Given the description of an element on the screen output the (x, y) to click on. 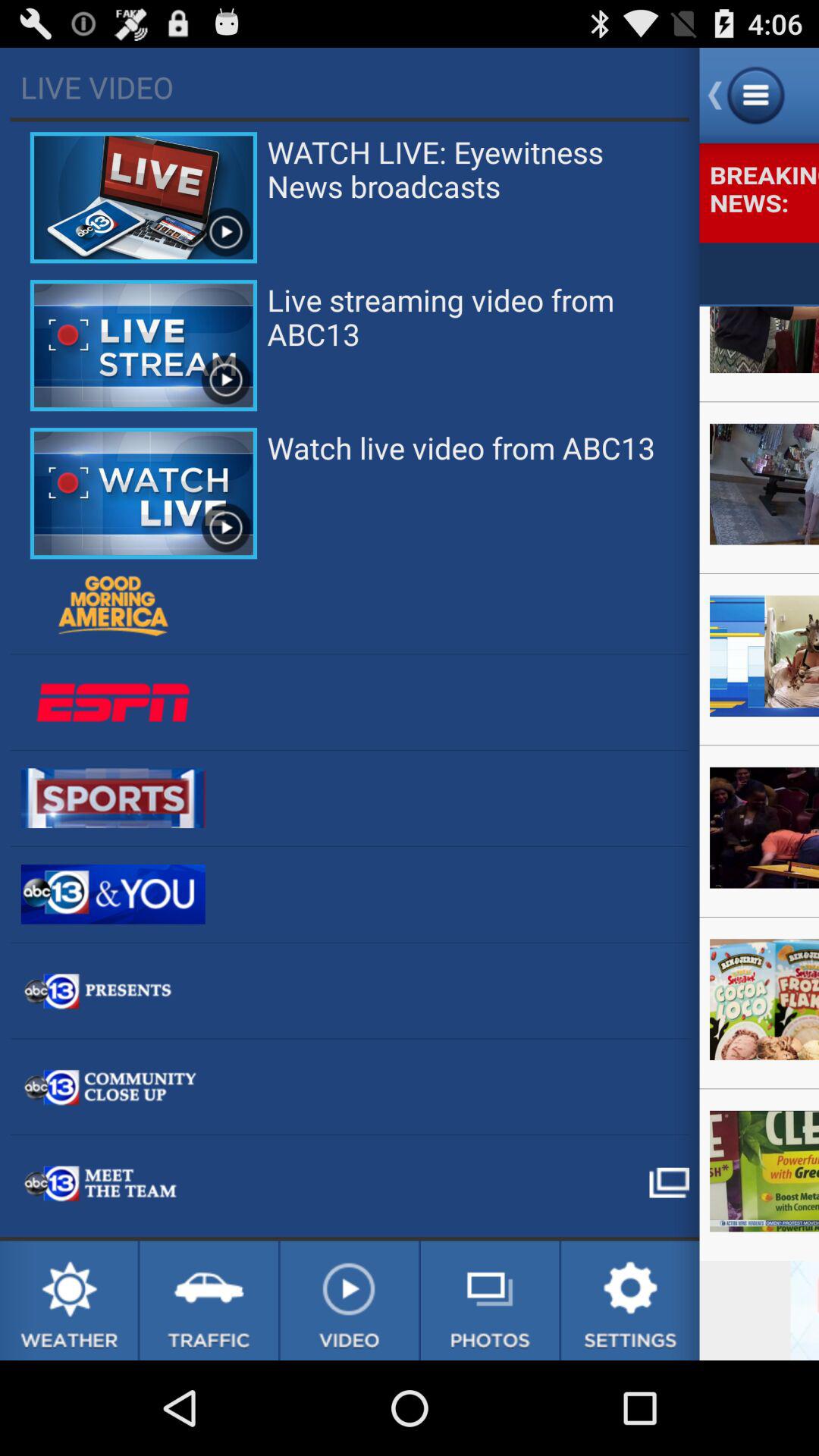
view traffic (208, 1300)
